Given the description of an element on the screen output the (x, y) to click on. 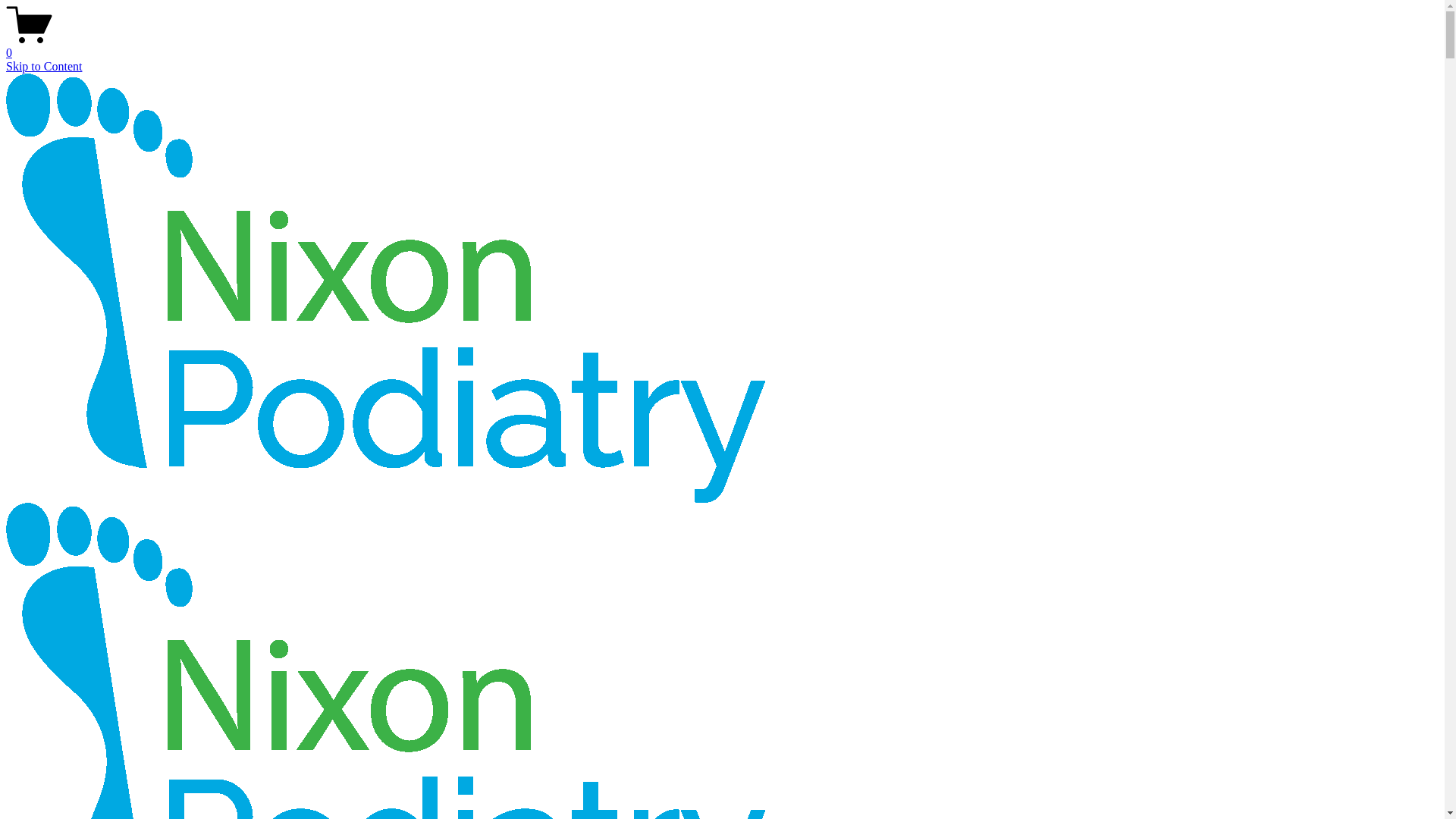
0 Element type: text (722, 45)
Skip to Content Element type: text (43, 65)
